Given the description of an element on the screen output the (x, y) to click on. 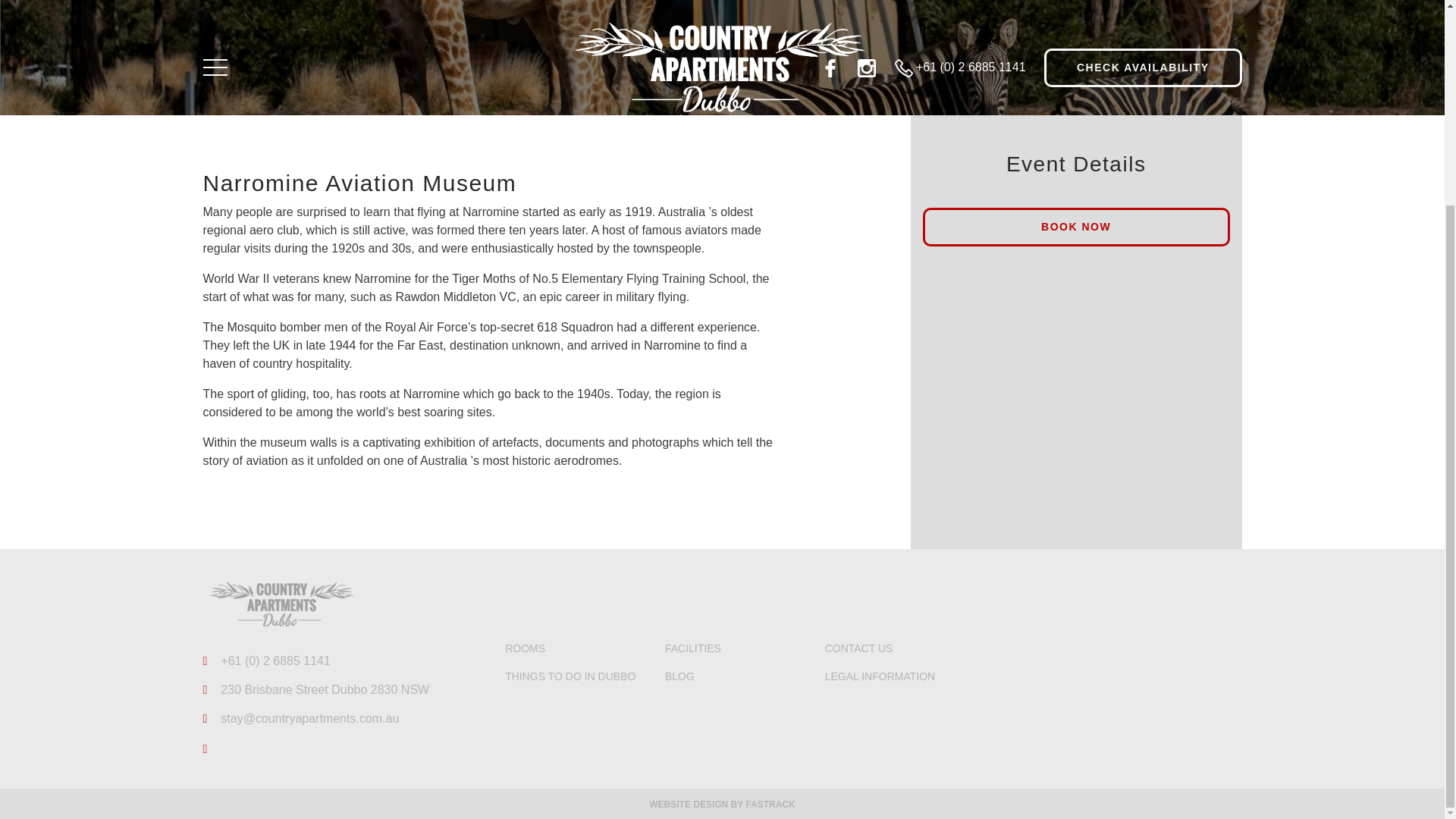
THINGS TO DO IN DUBBO (569, 676)
FACILITIES (692, 648)
LEGAL INFORMATION (879, 676)
ROOMS (524, 648)
BOOK NOW (1076, 227)
WEBSITE DESIGN BY FASTRACK (721, 804)
BLOG (679, 676)
230 Brisbane Street Dubbo 2830 NSW (316, 689)
CONTACT US (859, 648)
